Given the description of an element on the screen output the (x, y) to click on. 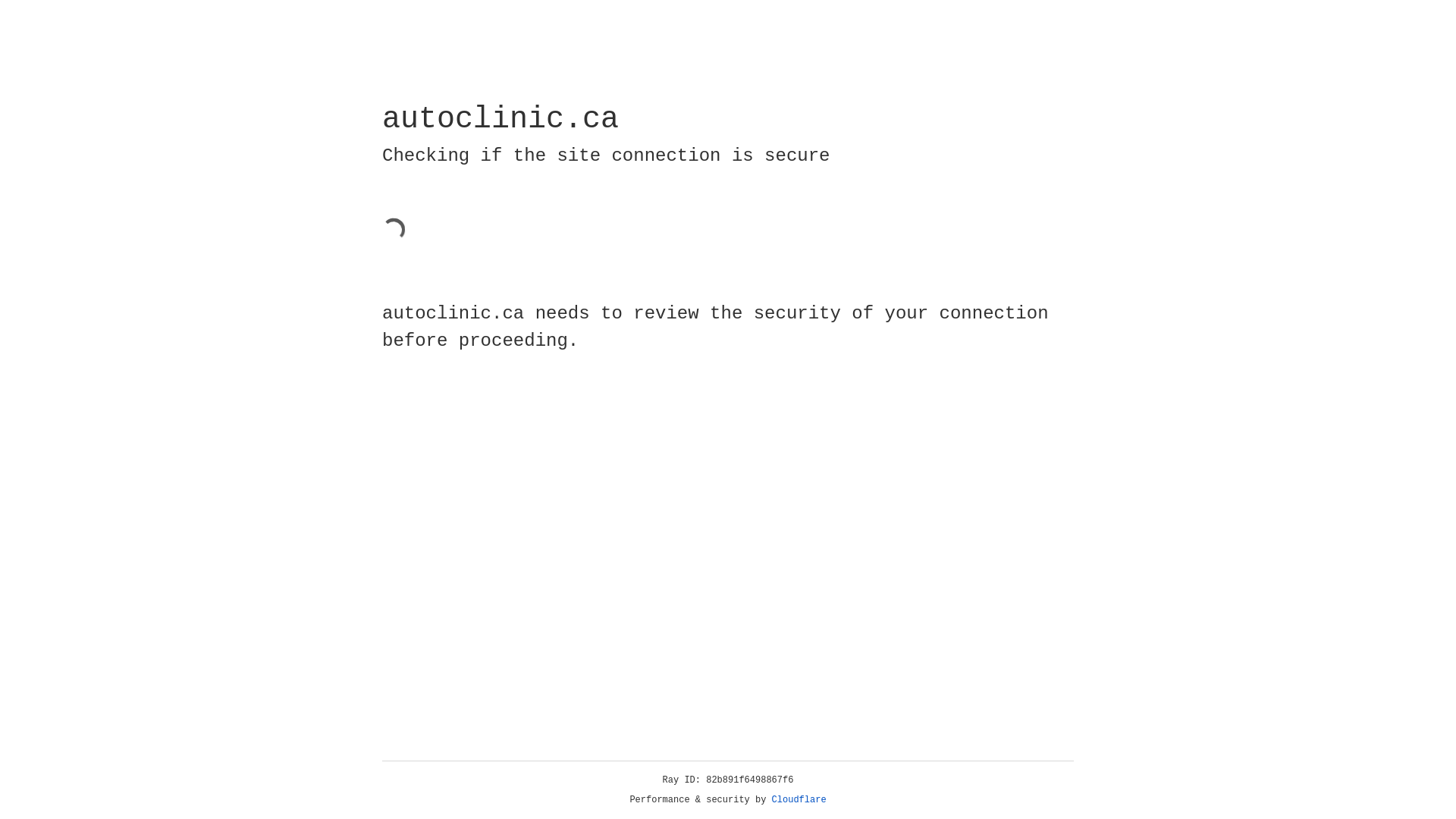
Cloudflare Element type: text (798, 799)
